Given the description of an element on the screen output the (x, y) to click on. 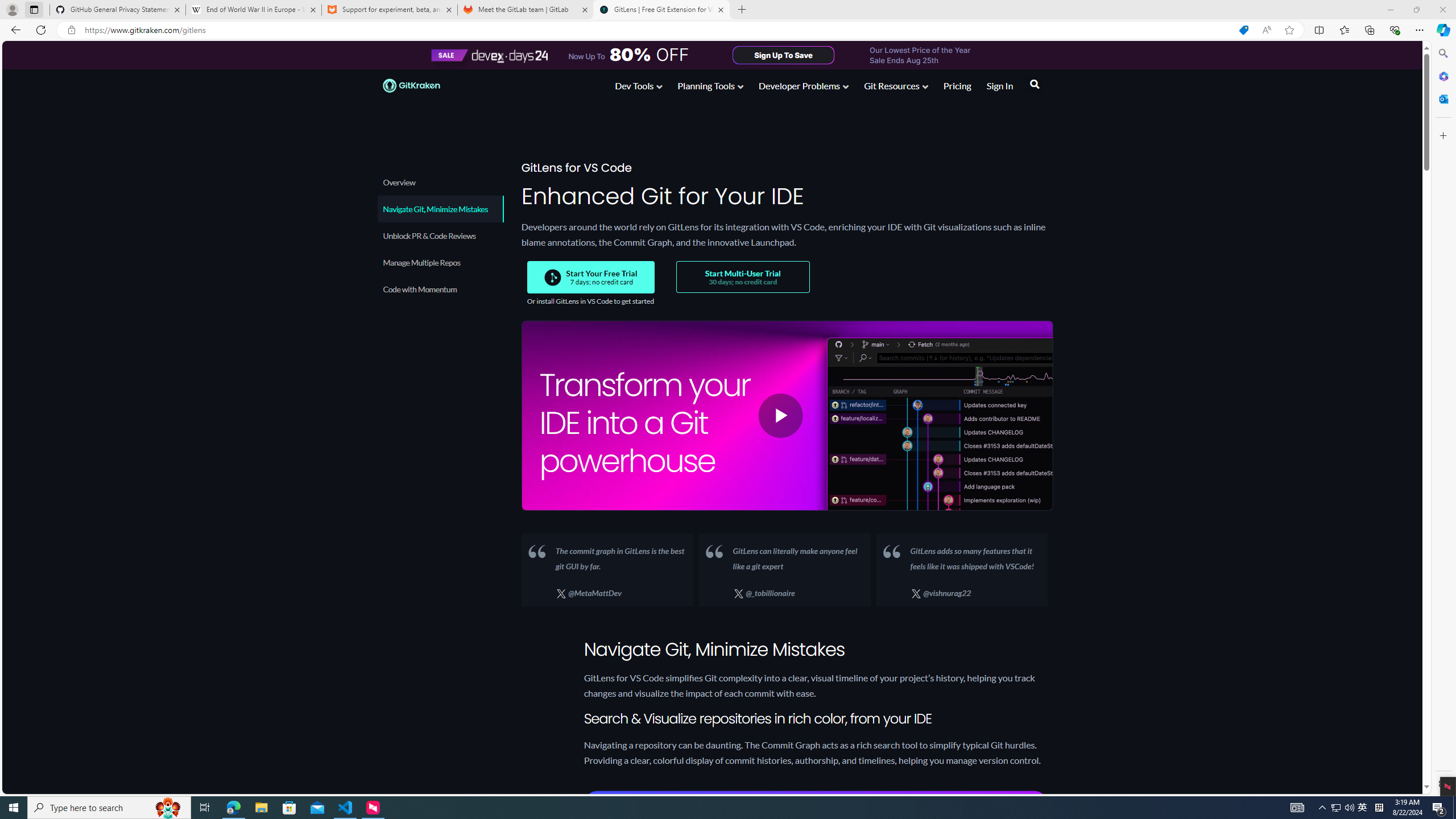
Start Your Free Trial 7 days; no credit card (591, 277)
Code with Momentum (440, 289)
GitLens | Free Git Extension for Visual Studio Code (660, 9)
End of World War II in Europe - Wikipedia (253, 9)
Meet the GitLab team | GitLab (525, 9)
